Given the description of an element on the screen output the (x, y) to click on. 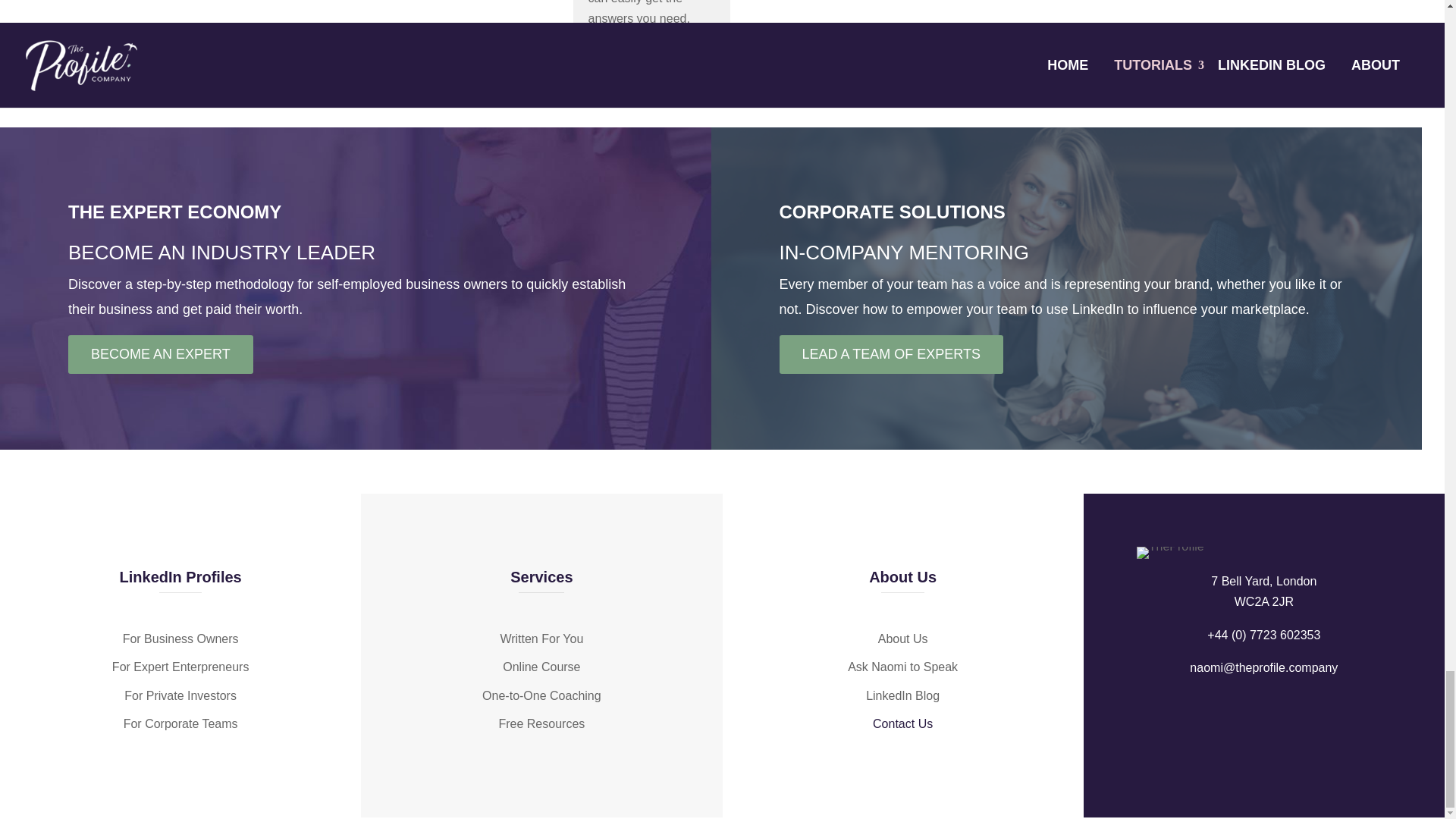
LinkedIn Blog (902, 695)
About Us (902, 638)
LinkedIn Blog (902, 666)
TheProfile (1170, 552)
